Given the description of an element on the screen output the (x, y) to click on. 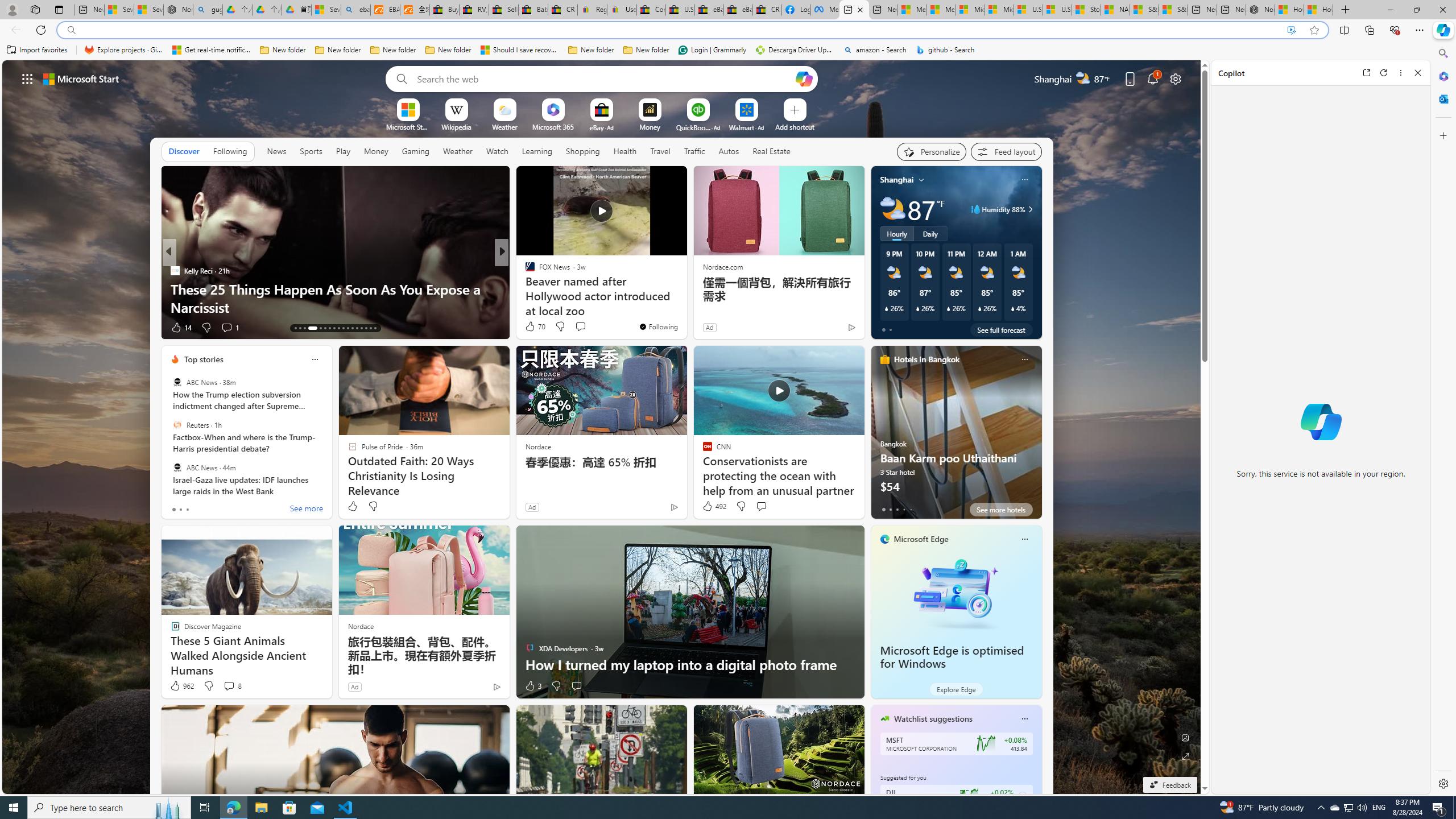
Side bar (1443, 418)
Microsoft Edge is optimised for Windows (955, 592)
